Given the description of an element on the screen output the (x, y) to click on. 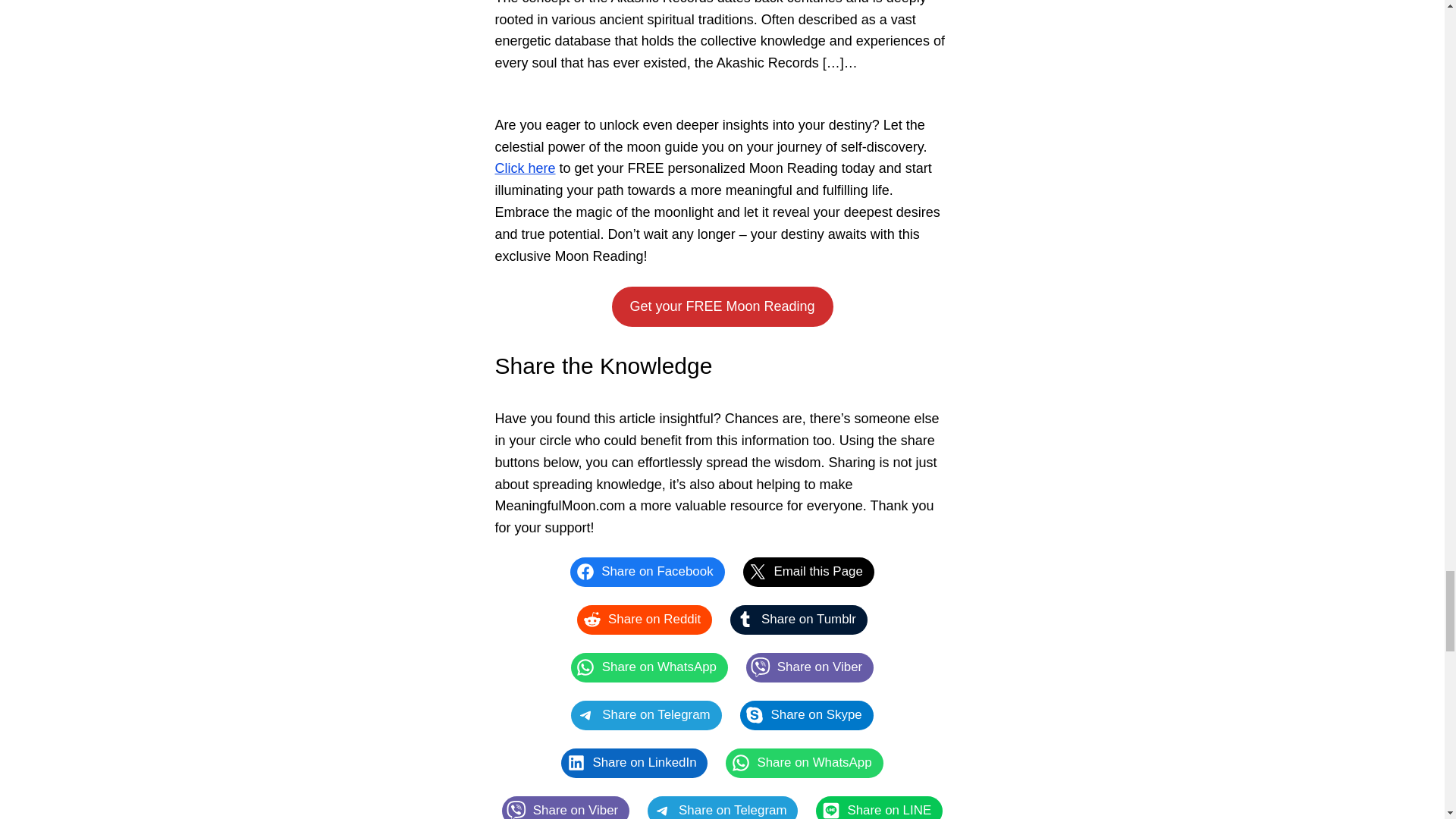
Share on Facebook (646, 572)
Share on WhatsApp (649, 667)
Share on Skype (806, 715)
Share on Reddit (643, 619)
Share on Telegram (722, 807)
Share on LINE (878, 807)
Click here (524, 168)
Share on Tumblr (798, 619)
Get your FREE Moon Reading (722, 306)
Share on LinkedIn (633, 763)
Share on Telegram (645, 715)
Share on Viber (809, 667)
Share on Viber (565, 807)
Email this Page (808, 572)
Share on WhatsApp (803, 763)
